Given the description of an element on the screen output the (x, y) to click on. 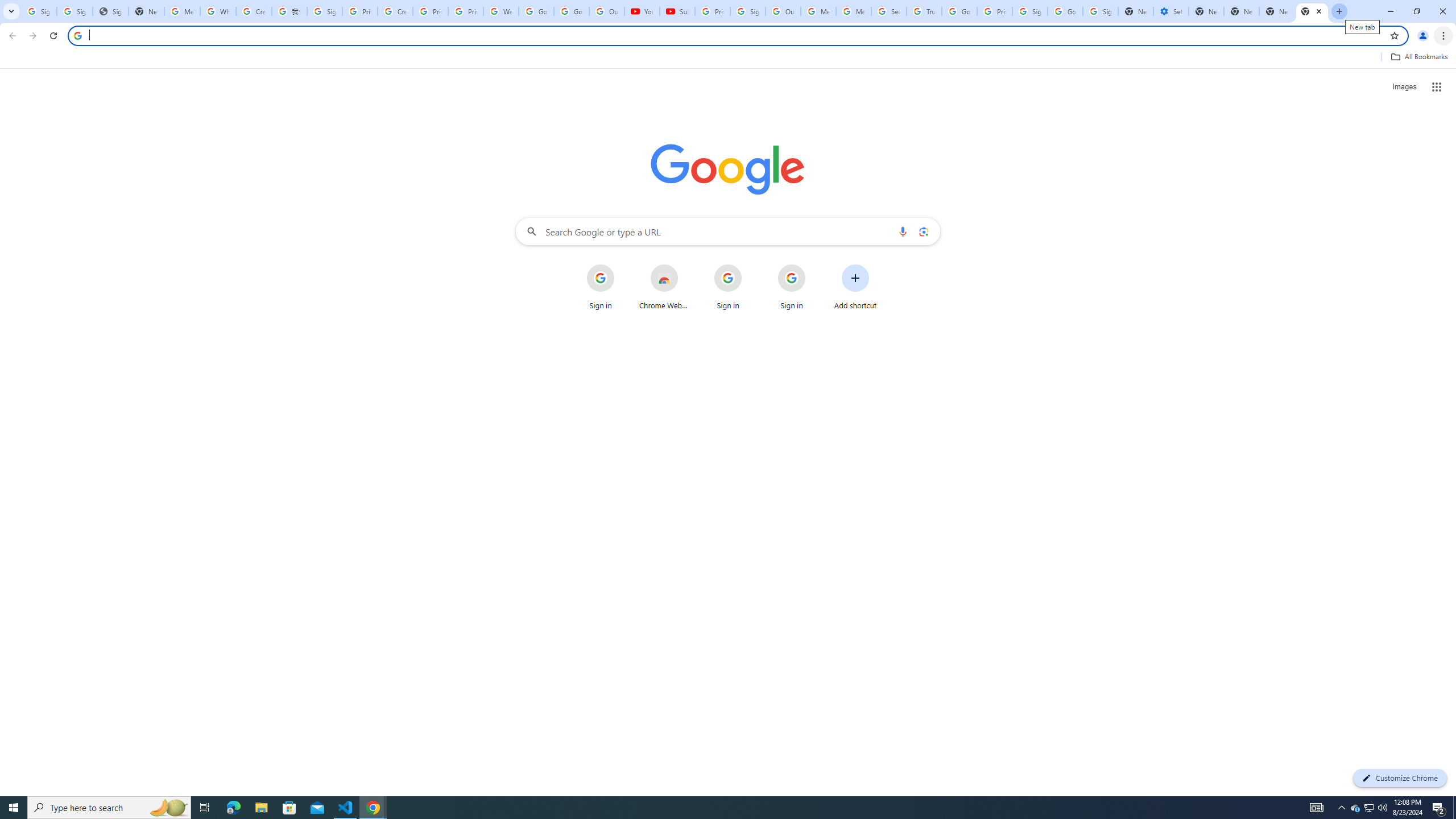
Create your Google Account (253, 11)
Search for Images  (1403, 87)
YouTube (641, 11)
Sign in - Google Accounts (747, 11)
Google Account (571, 11)
New Tab (1312, 11)
Bookmarks (728, 58)
Who is my administrator? - Google Account Help (218, 11)
Sign in - Google Accounts (39, 11)
